Given the description of an element on the screen output the (x, y) to click on. 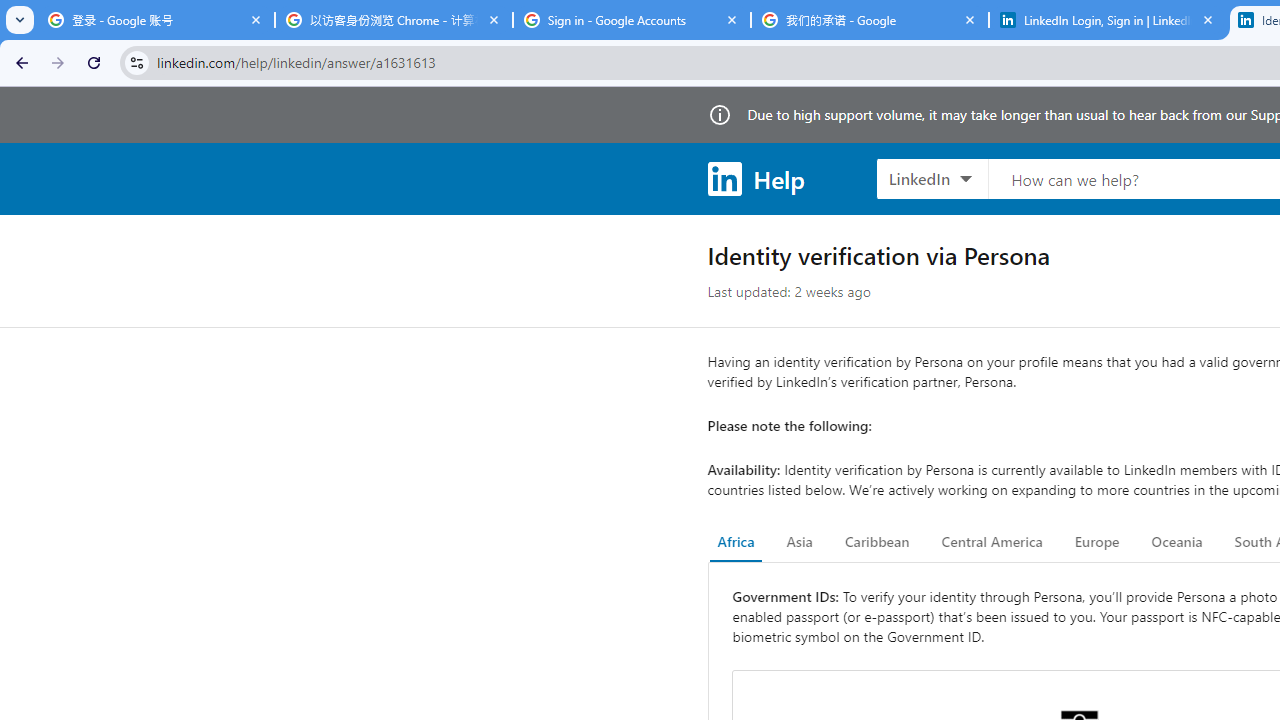
Caribbean (876, 542)
Africa (735, 542)
Oceania (1176, 542)
Sign in - Google Accounts (632, 20)
Asia (799, 542)
